Given the description of an element on the screen output the (x, y) to click on. 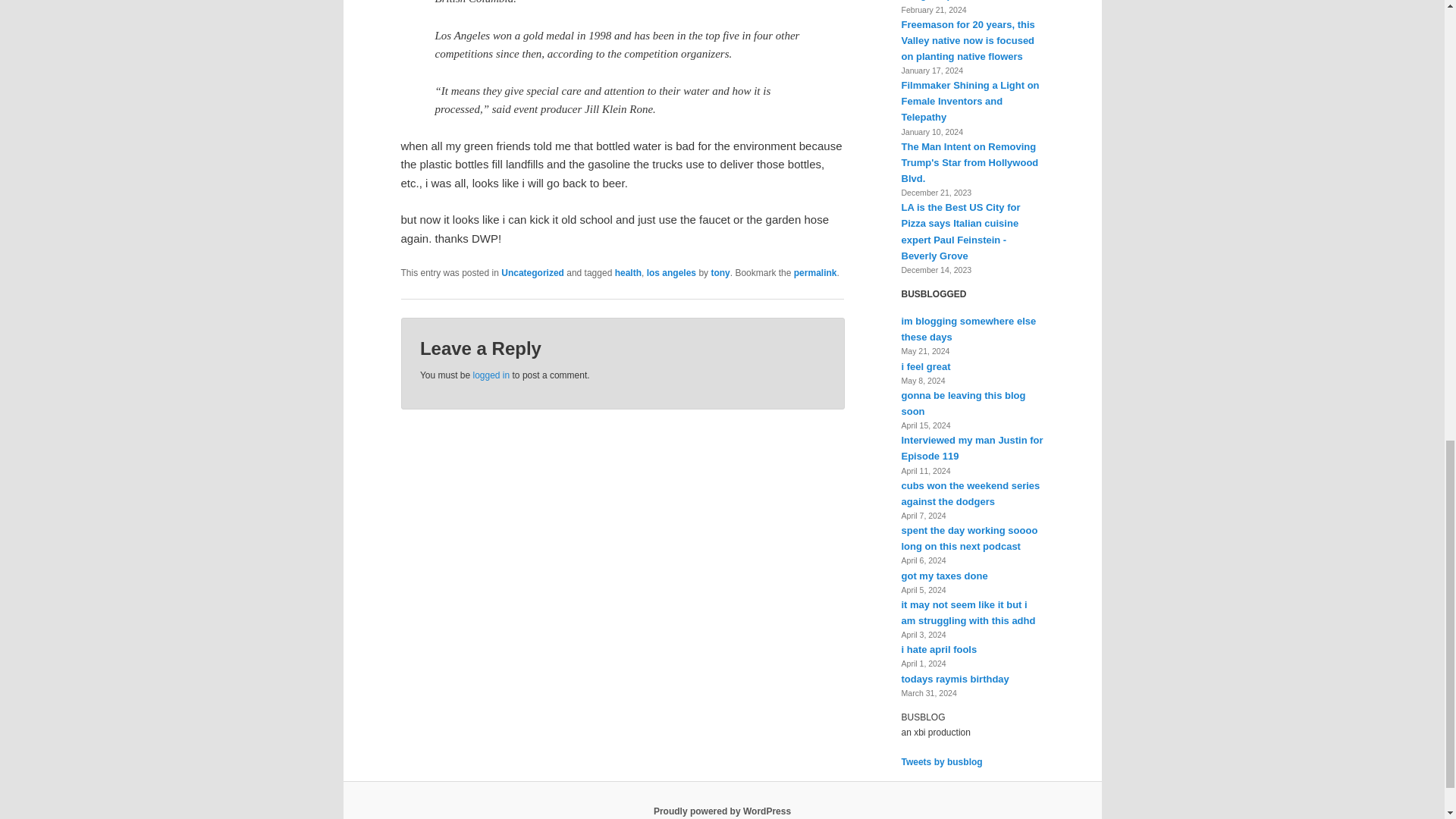
Permalink to cancel my Arrowhead subscription! (815, 272)
health (628, 272)
los angeles (670, 272)
logged in (490, 375)
tony (719, 272)
Semantic Personal Publishing Platform (721, 810)
Uncategorized (532, 272)
permalink (815, 272)
